Given the description of an element on the screen output the (x, y) to click on. 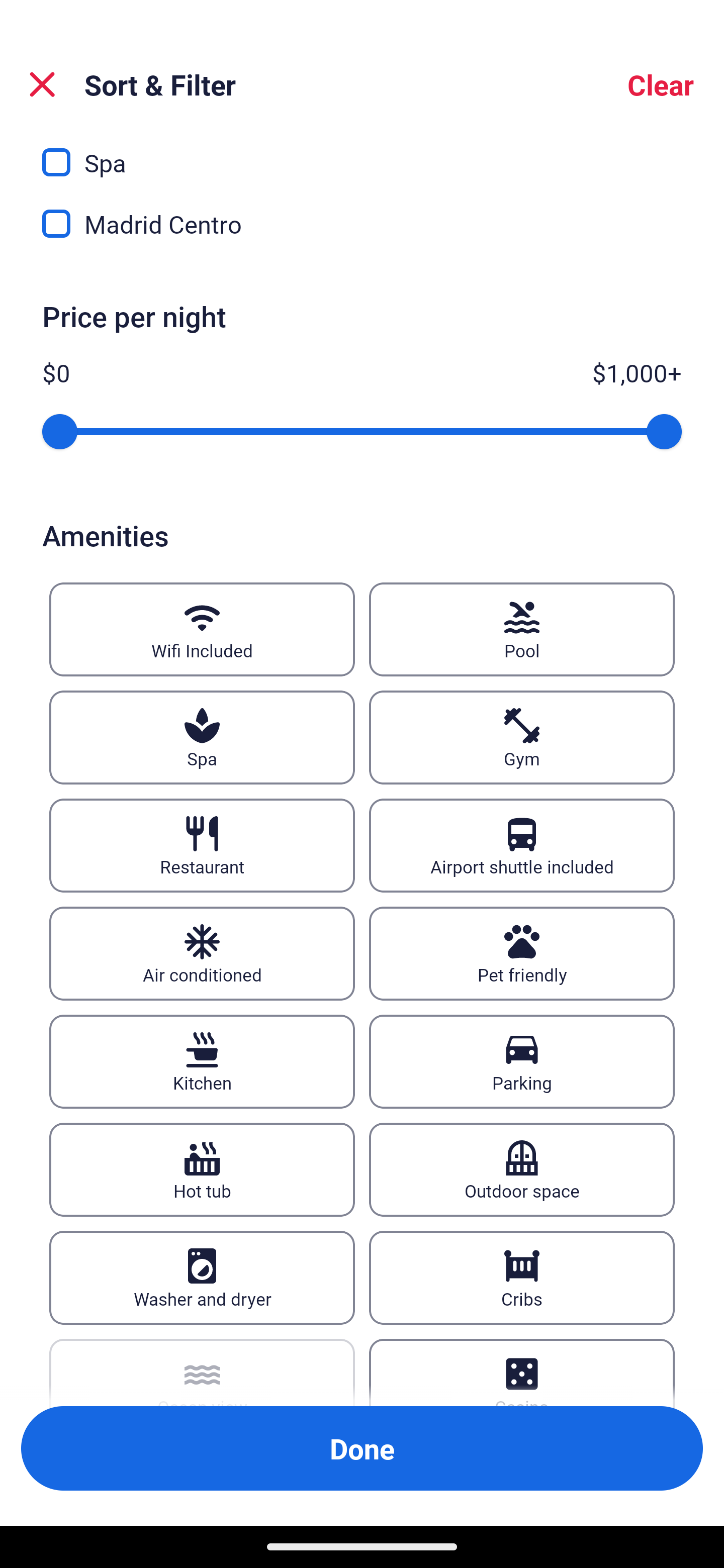
Close Sort and Filter (42, 84)
Clear (660, 84)
Spa, Spa (361, 154)
Madrid Centro, Madrid Centro (361, 223)
Wifi Included (201, 628)
Pool (521, 628)
Spa (201, 736)
Gym (521, 736)
Restaurant (201, 845)
Airport shuttle included (521, 845)
Air conditioned (201, 953)
Pet friendly (521, 953)
Kitchen (201, 1061)
Parking (521, 1061)
Hot tub (201, 1169)
Outdoor space (521, 1169)
Washer and dryer (201, 1277)
Cribs (521, 1277)
Ocean view (201, 1372)
Casino (521, 1372)
Apply and close Sort and Filter Done (361, 1448)
